Given the description of an element on the screen output the (x, y) to click on. 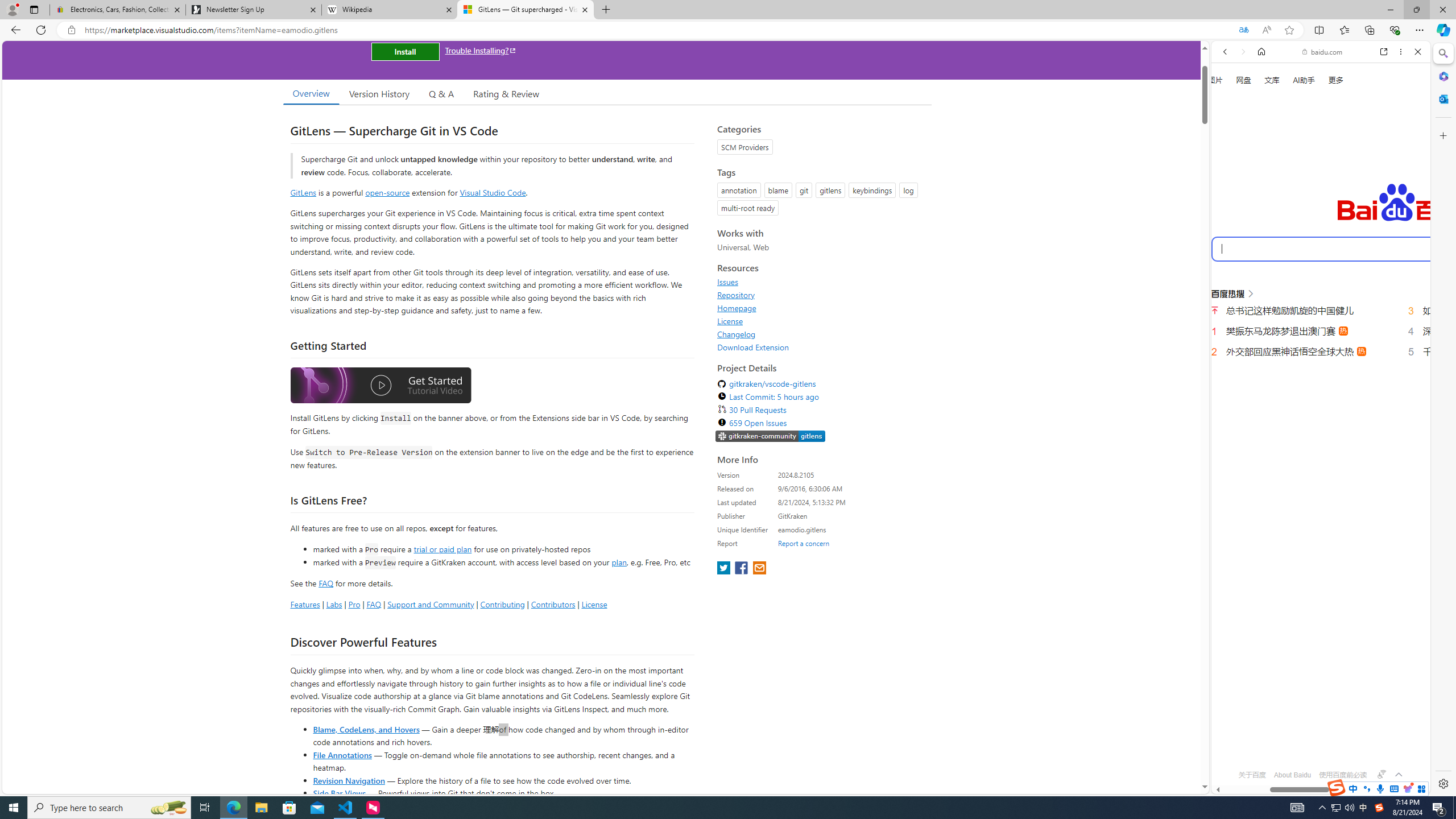
This site scope (1259, 102)
App bar (728, 29)
Microsoft 365 (1442, 76)
Web scope (1230, 102)
Repository (820, 294)
English (Uk) (1320, 353)
VIDEOS (1300, 192)
Class: b_serphb (1404, 193)
